Given the description of an element on the screen output the (x, y) to click on. 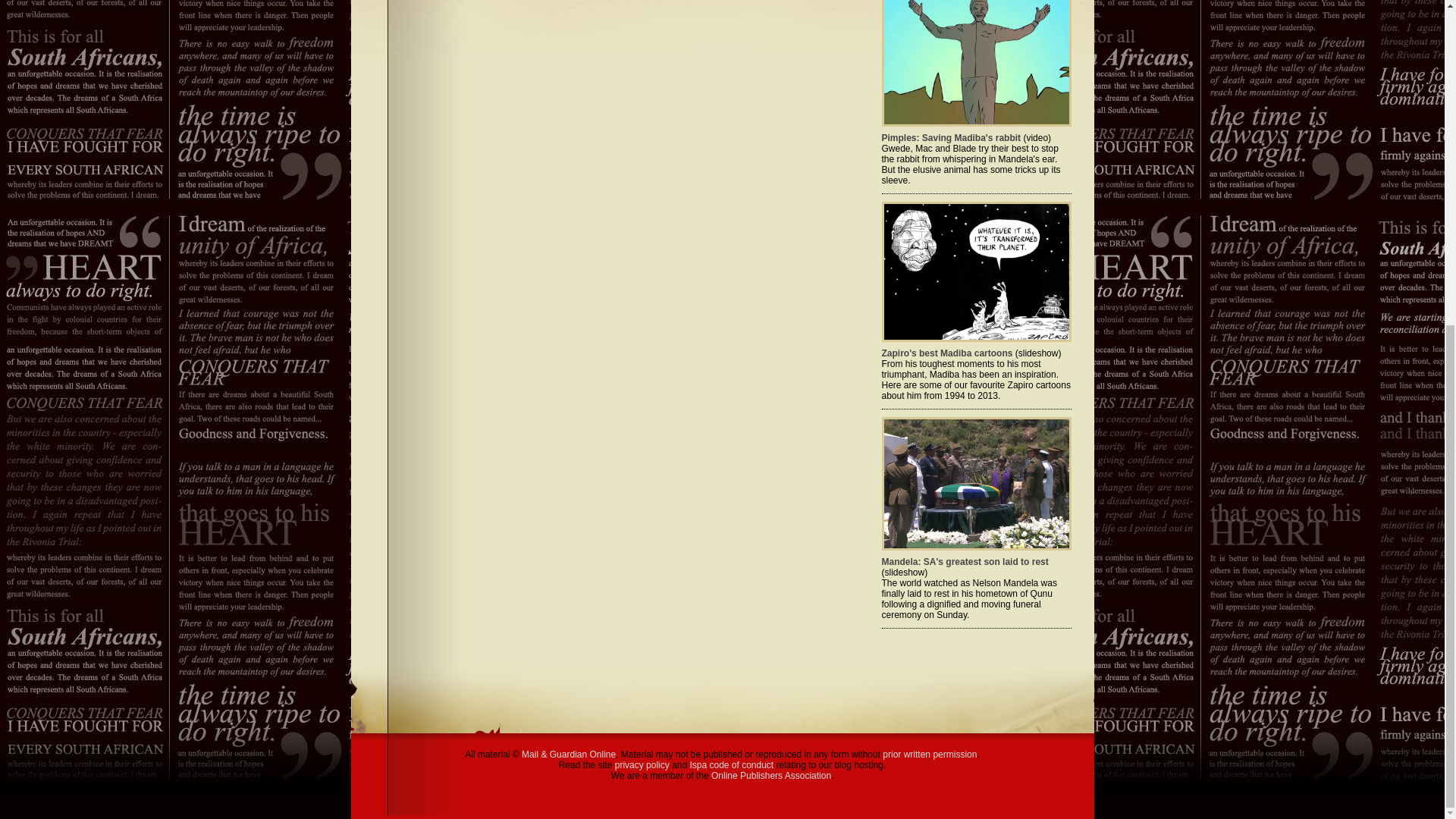
Zapiro's best Madiba cartoons (945, 353)
privacy policy (641, 765)
Online Publishers Association (771, 775)
Pimples: Saving Madiba's rabbit (950, 137)
Ispa code of conduct (730, 765)
prior written permission (929, 754)
Mandela: SA's greatest son laid to rest (964, 561)
